Given the description of an element on the screen output the (x, y) to click on. 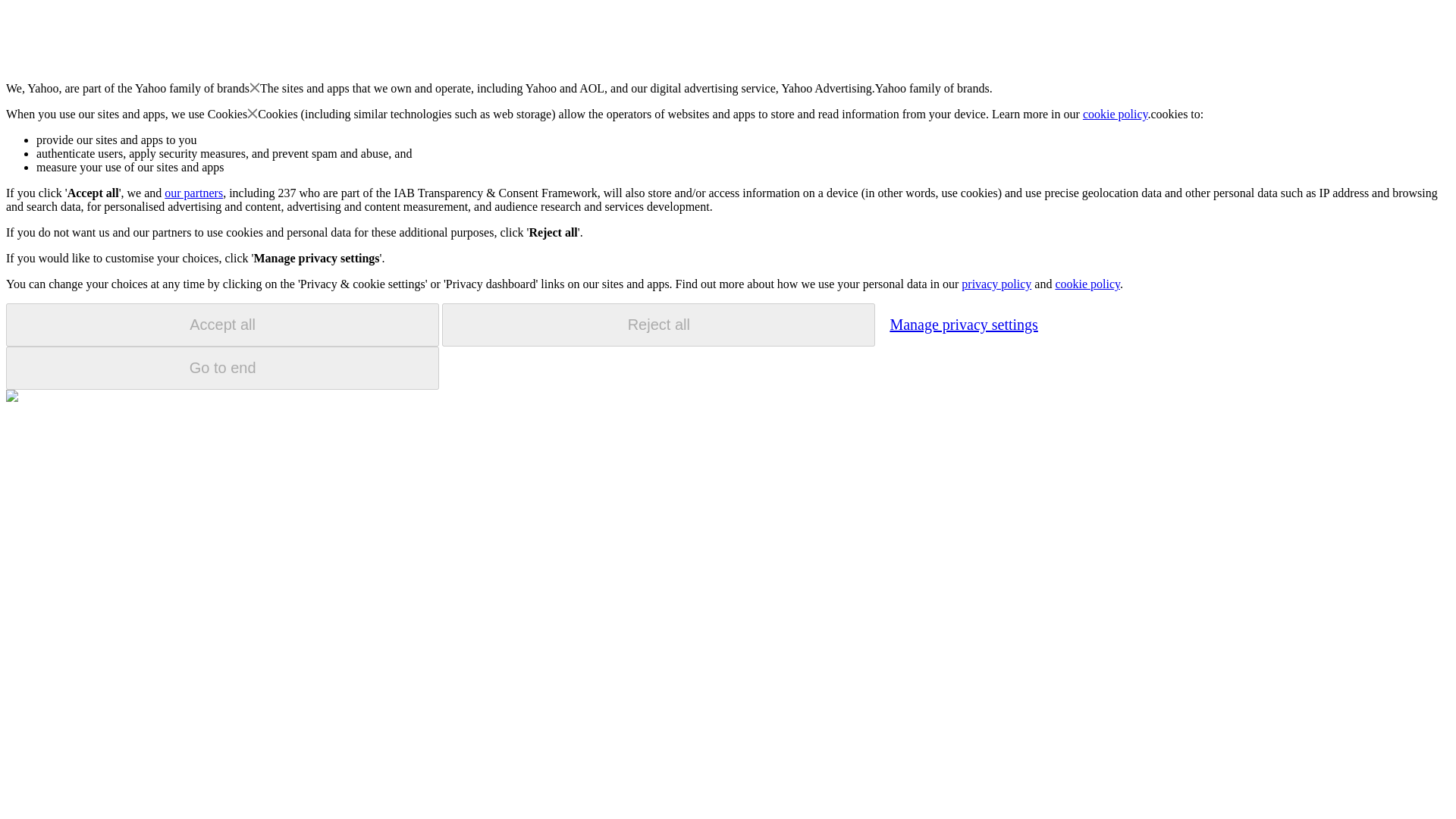
cookie policy (1115, 113)
privacy policy (995, 283)
Go to end (222, 367)
Manage privacy settings (963, 323)
Reject all (658, 324)
our partners (193, 192)
cookie policy (1086, 283)
Accept all (222, 324)
